Given the description of an element on the screen output the (x, y) to click on. 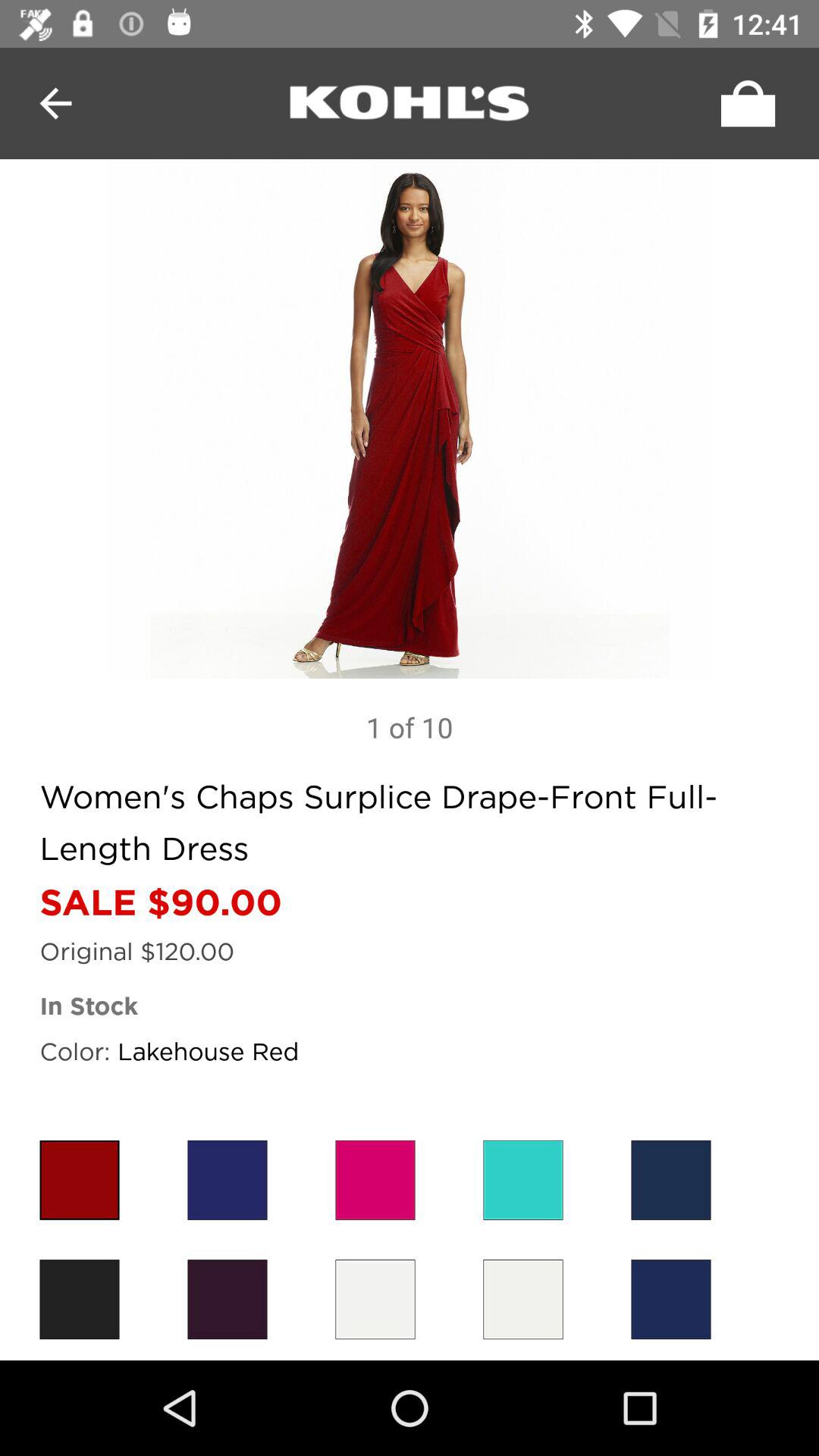
select color (79, 1179)
